Given the description of an element on the screen output the (x, y) to click on. 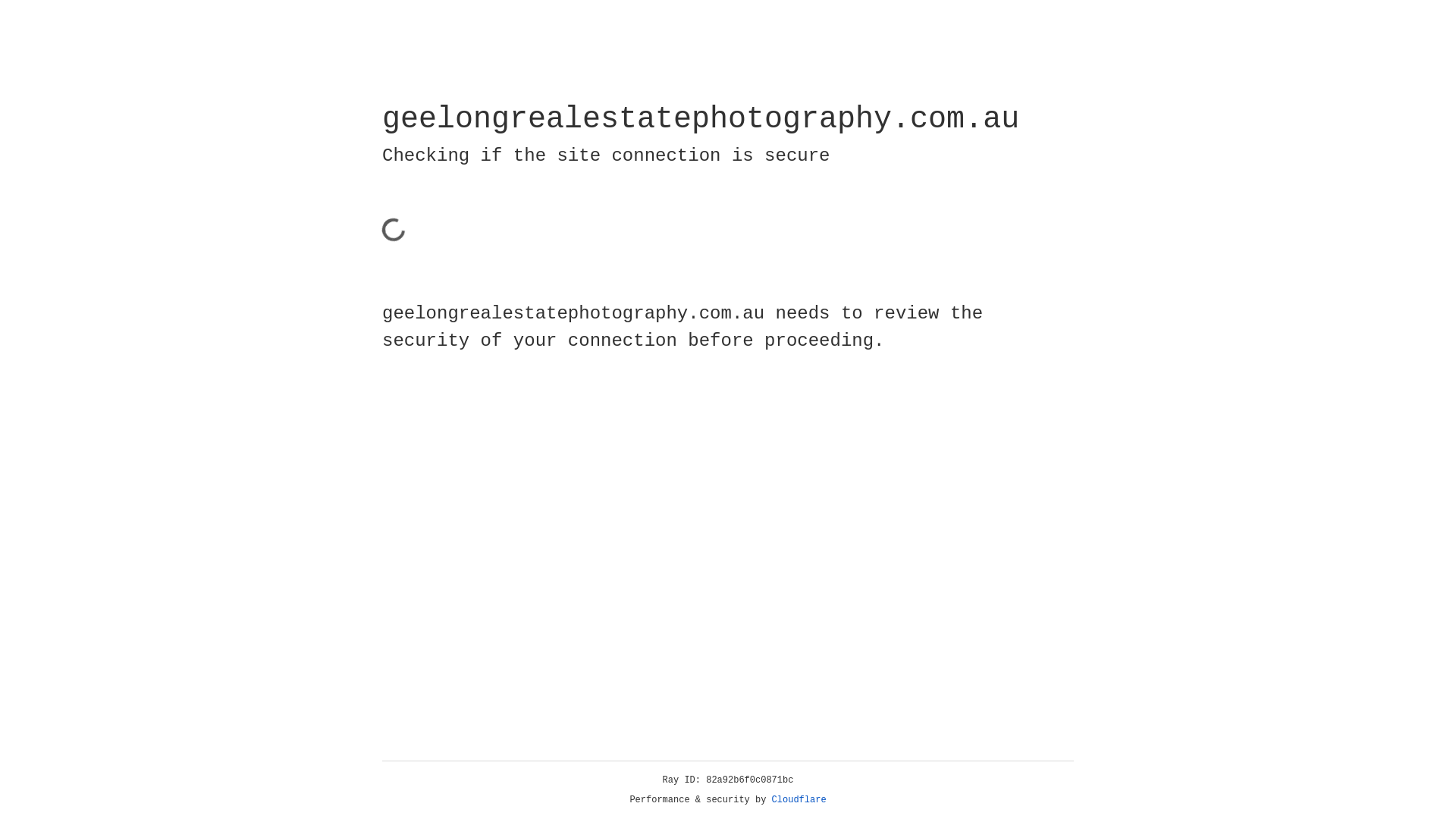
Cloudflare Element type: text (798, 799)
